Given the description of an element on the screen output the (x, y) to click on. 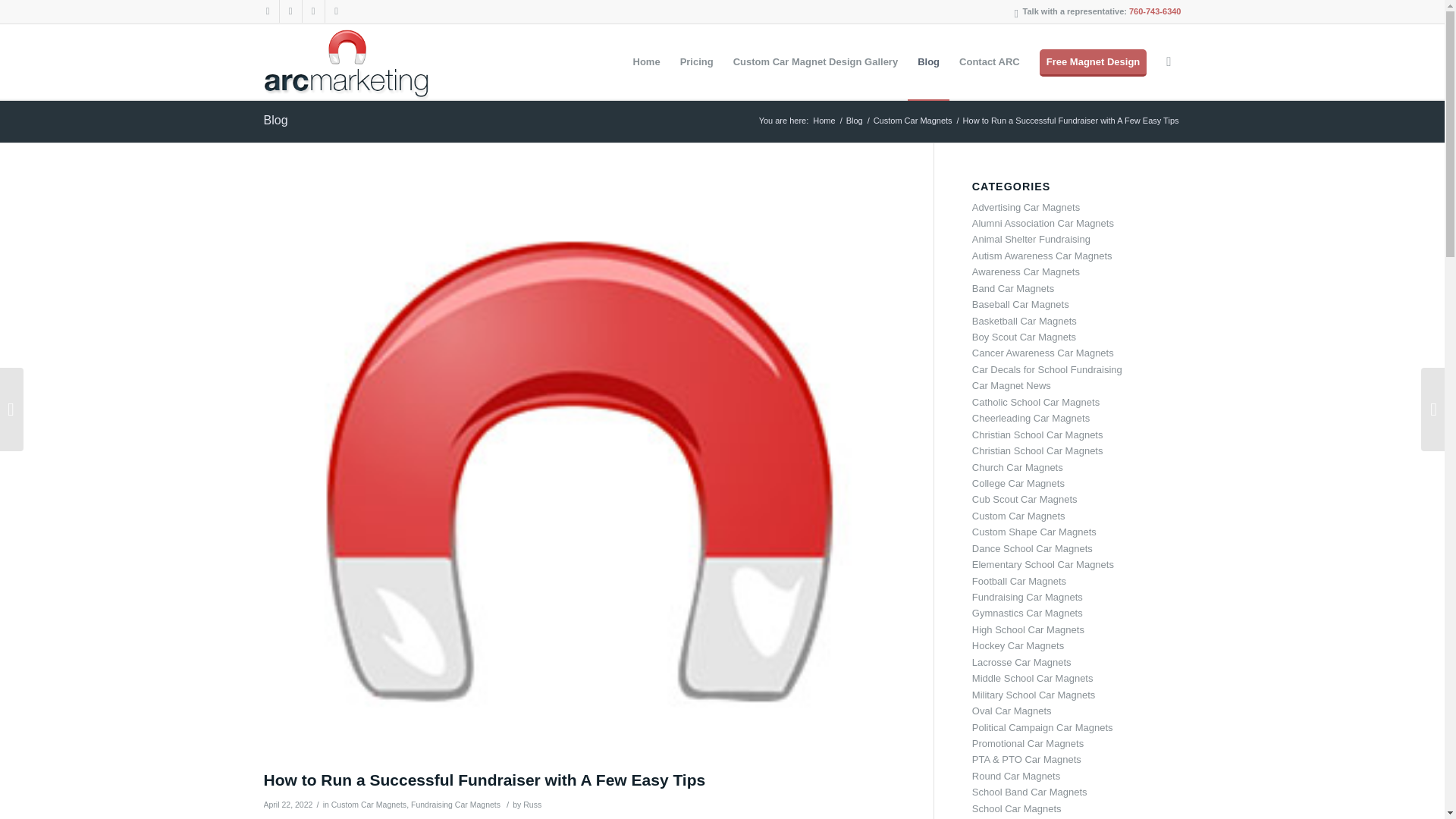
Gplus (290, 11)
Posts by Russ (531, 804)
ARC Marketing (823, 120)
Free Magnet Design (1093, 61)
Custom Car Magnet Design Gallery (815, 61)
Pinterest (312, 11)
Facebook (267, 11)
Contact ARC (989, 61)
Permanent Link: Blog (275, 119)
Blog (854, 120)
Rss (335, 11)
